Given the description of an element on the screen output the (x, y) to click on. 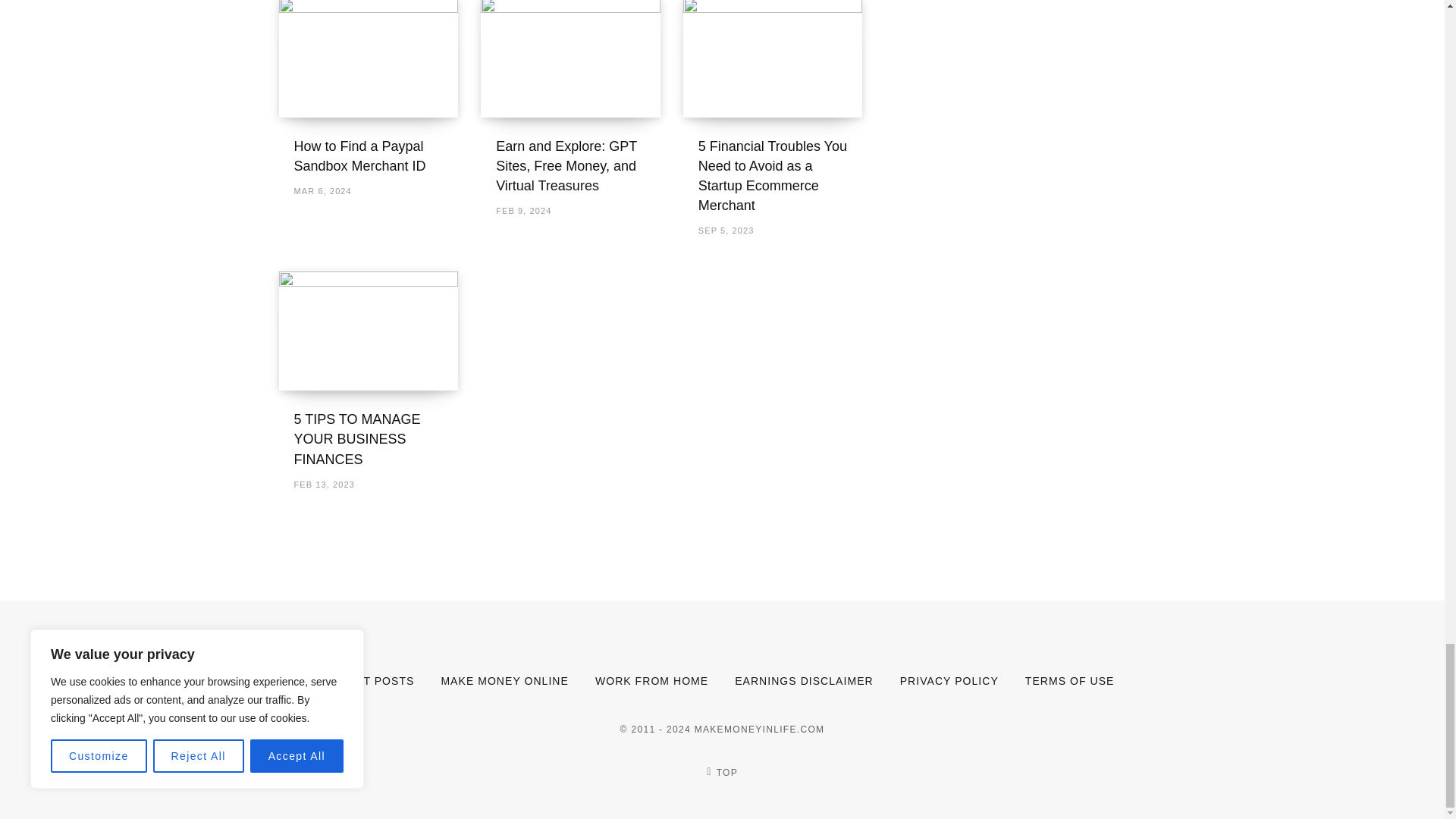
How to Find a Paypal Sandbox Merchant ID (368, 58)
